Given the description of an element on the screen output the (x, y) to click on. 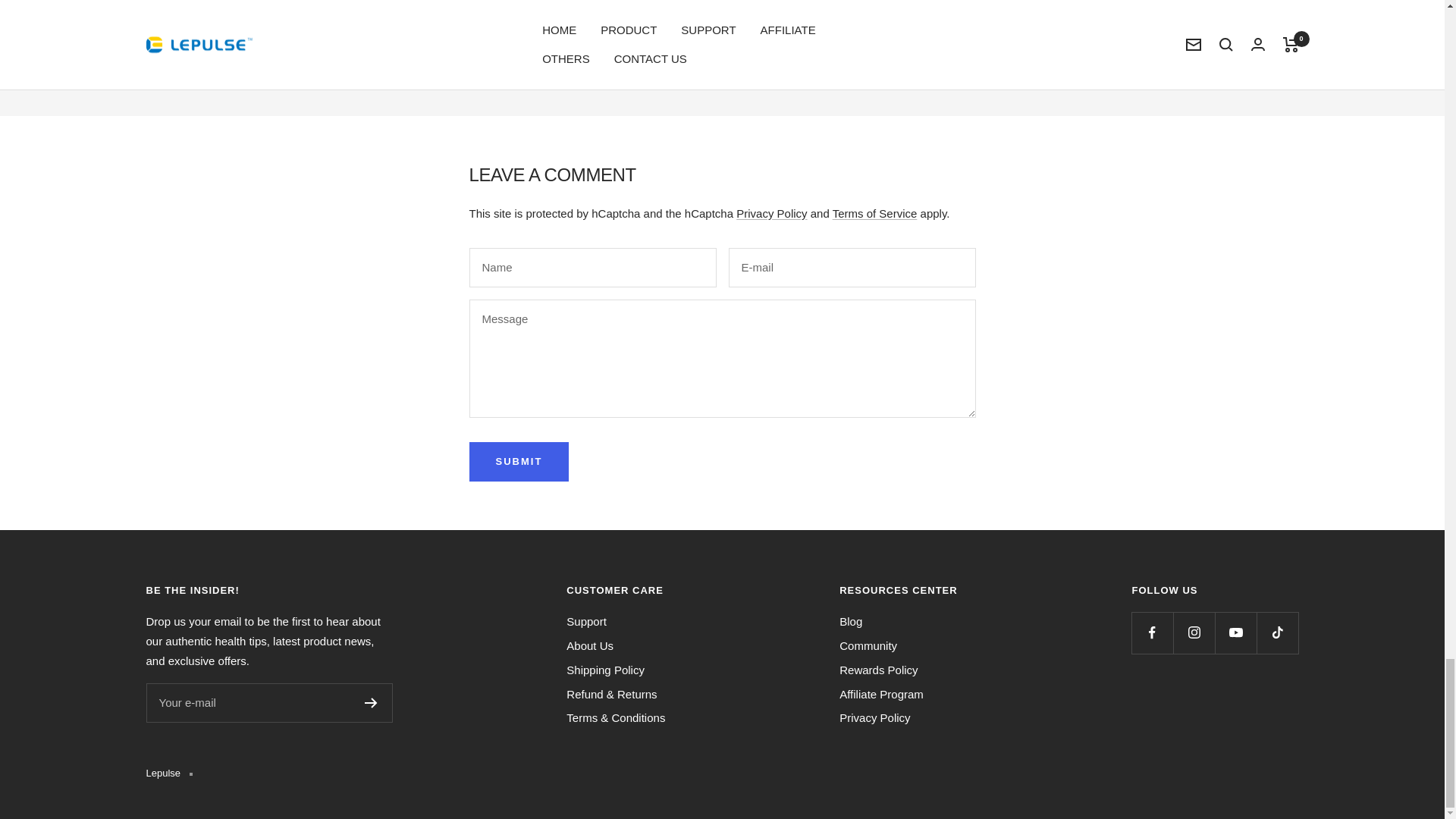
Privacy Policy (771, 213)
Register (370, 702)
Terms of Service (874, 213)
SUBMIT (518, 461)
